Given the description of an element on the screen output the (x, y) to click on. 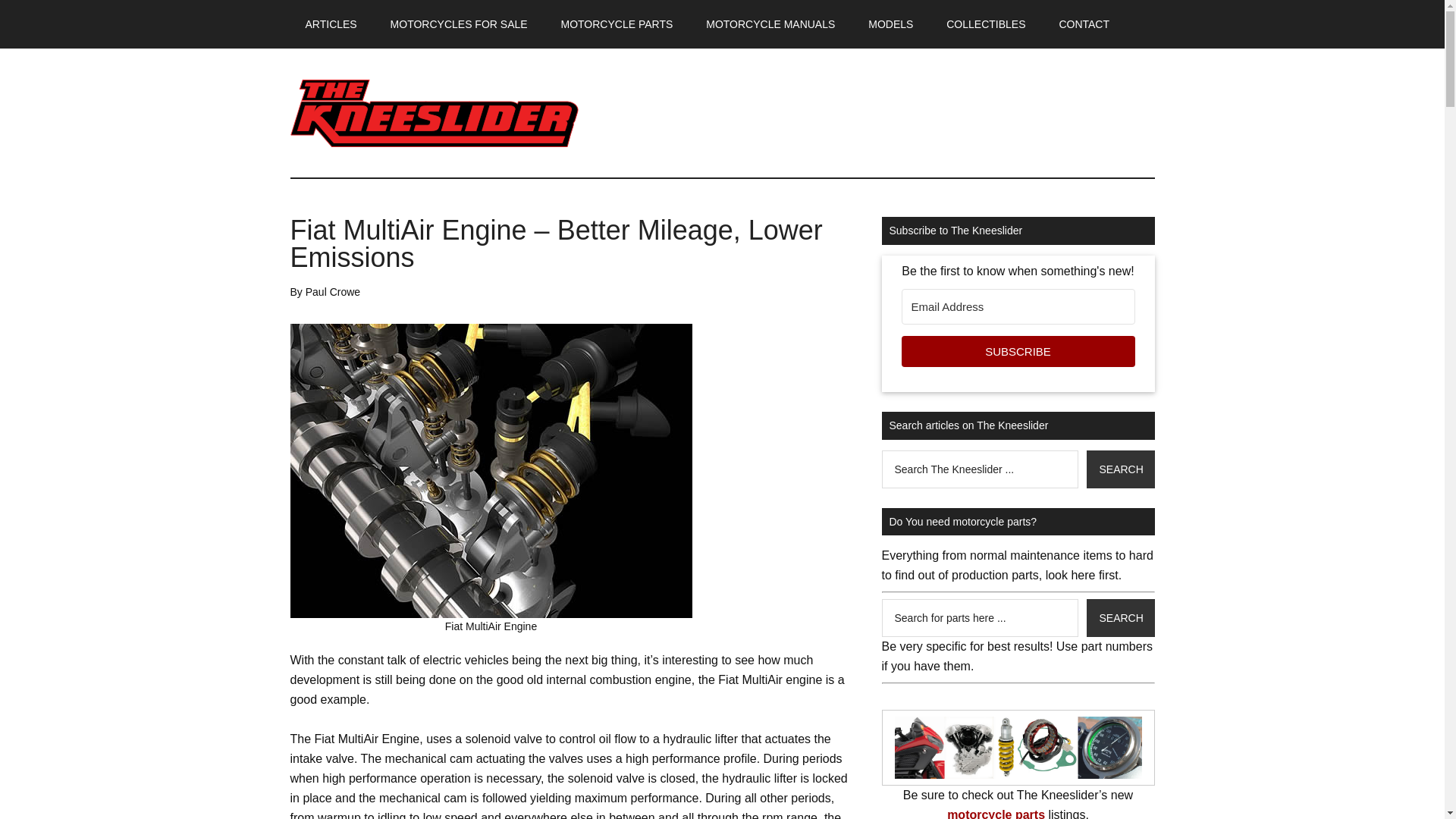
Fiat MultiAir Engine (490, 470)
The Kneeslider (433, 112)
Contact The Kneeslider (1083, 24)
Search (1120, 469)
COLLECTIBLES (986, 24)
Search (1120, 617)
Search (1120, 617)
CONTACT (1083, 24)
MODELS (890, 24)
Search (1120, 617)
MOTORCYCLE MANUALS (770, 24)
Search (1120, 469)
Search (1120, 469)
SUBSCRIBE (1017, 350)
MOTORCYCLE PARTS (617, 24)
